Given the description of an element on the screen output the (x, y) to click on. 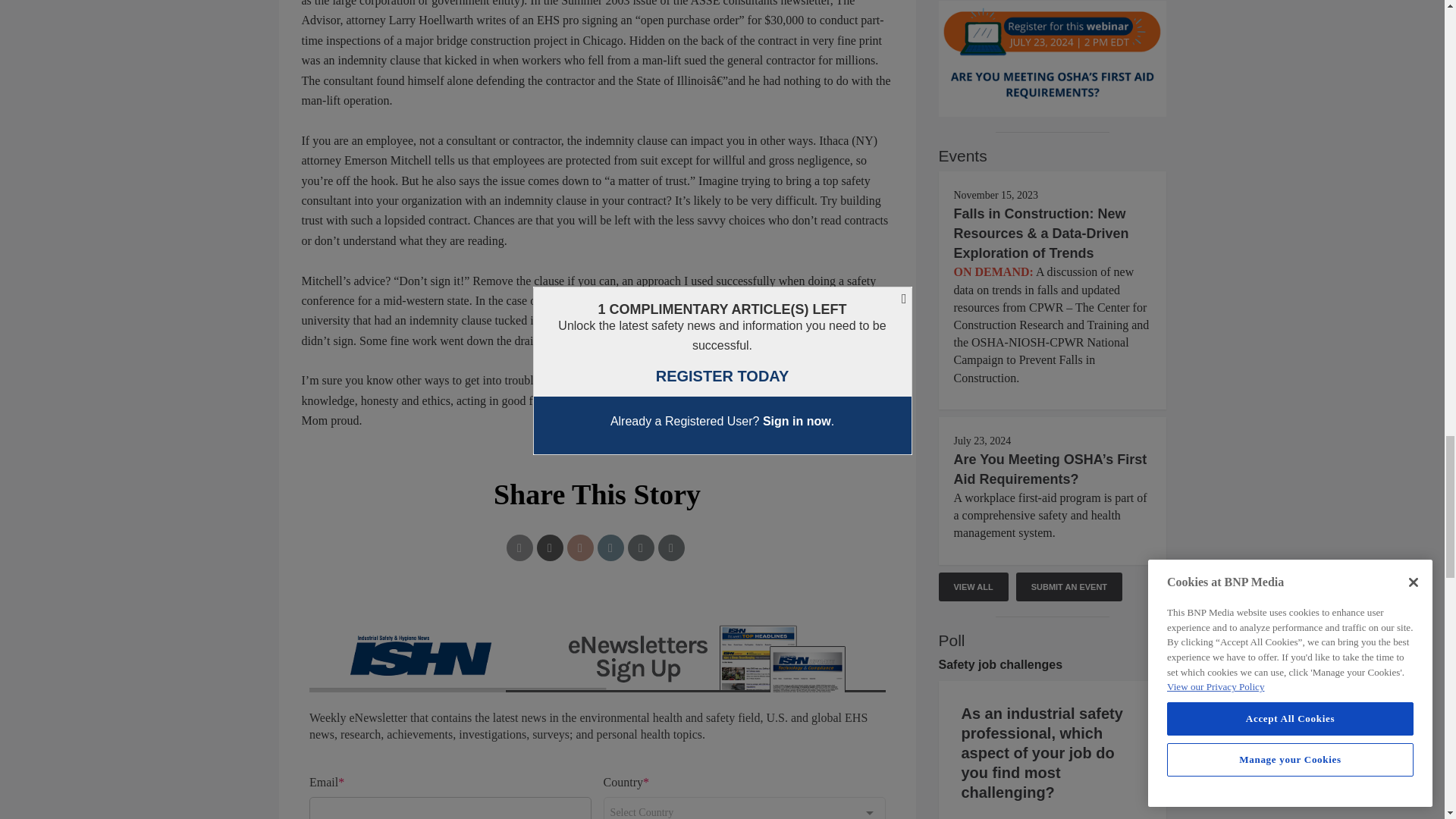
Interaction questions (597, 714)
